Given the description of an element on the screen output the (x, y) to click on. 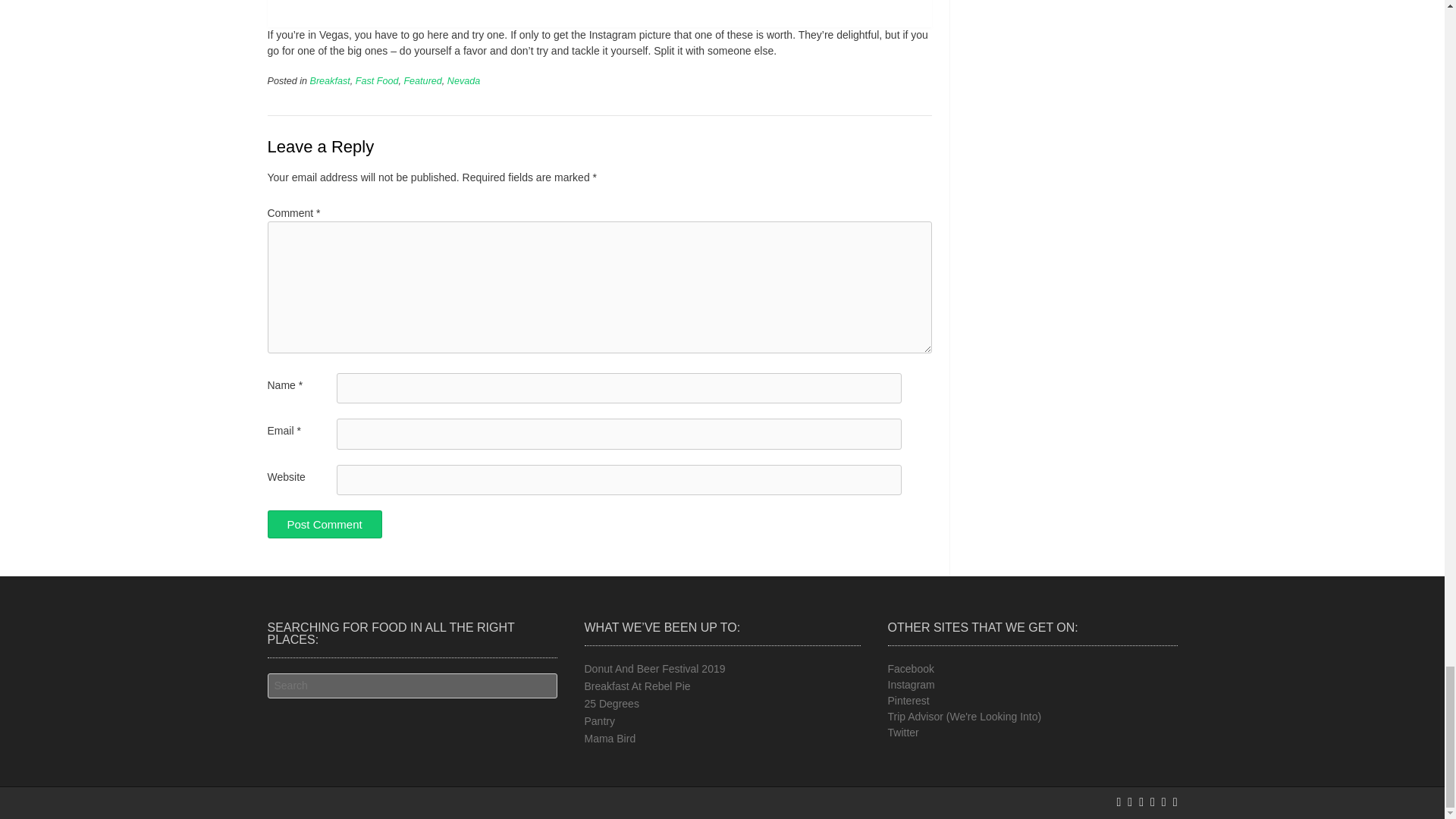
Fast Food (376, 81)
Nevada (463, 81)
Breakfast (330, 81)
Featured (422, 81)
Breakfast At Rebel Pie (636, 686)
Post Comment (323, 524)
Donut And Beer Festival 2019 (654, 668)
Post Comment (323, 524)
